Given the description of an element on the screen output the (x, y) to click on. 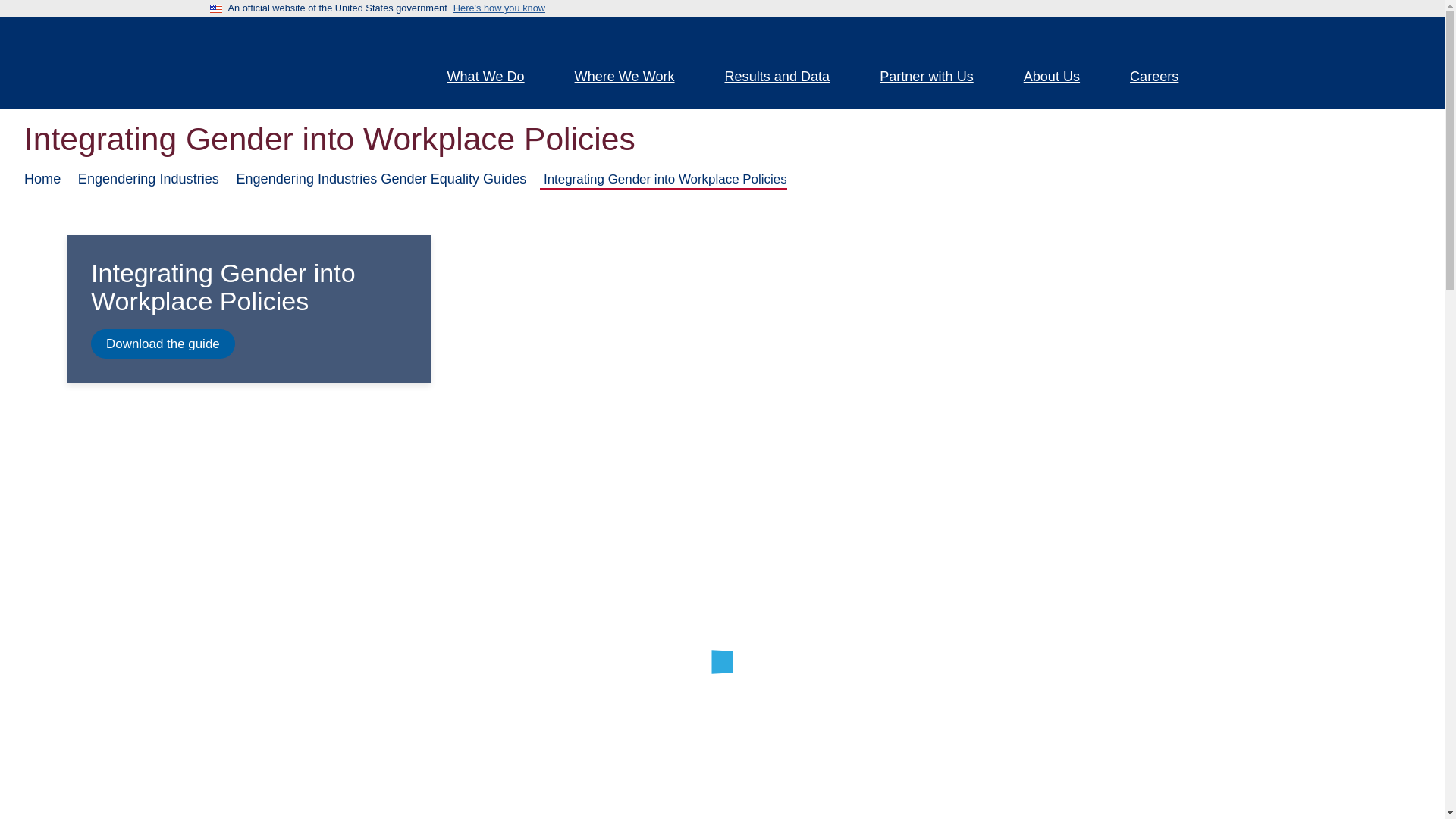
What We Do (493, 78)
About Us (1060, 78)
Careers (1162, 78)
Download the guide (162, 343)
Engendering Industries (148, 178)
Here's how you know (498, 8)
Where We Work (634, 78)
Home (304, 62)
Engendering Industries Gender Equality Guides (380, 178)
Home (42, 178)
